Given the description of an element on the screen output the (x, y) to click on. 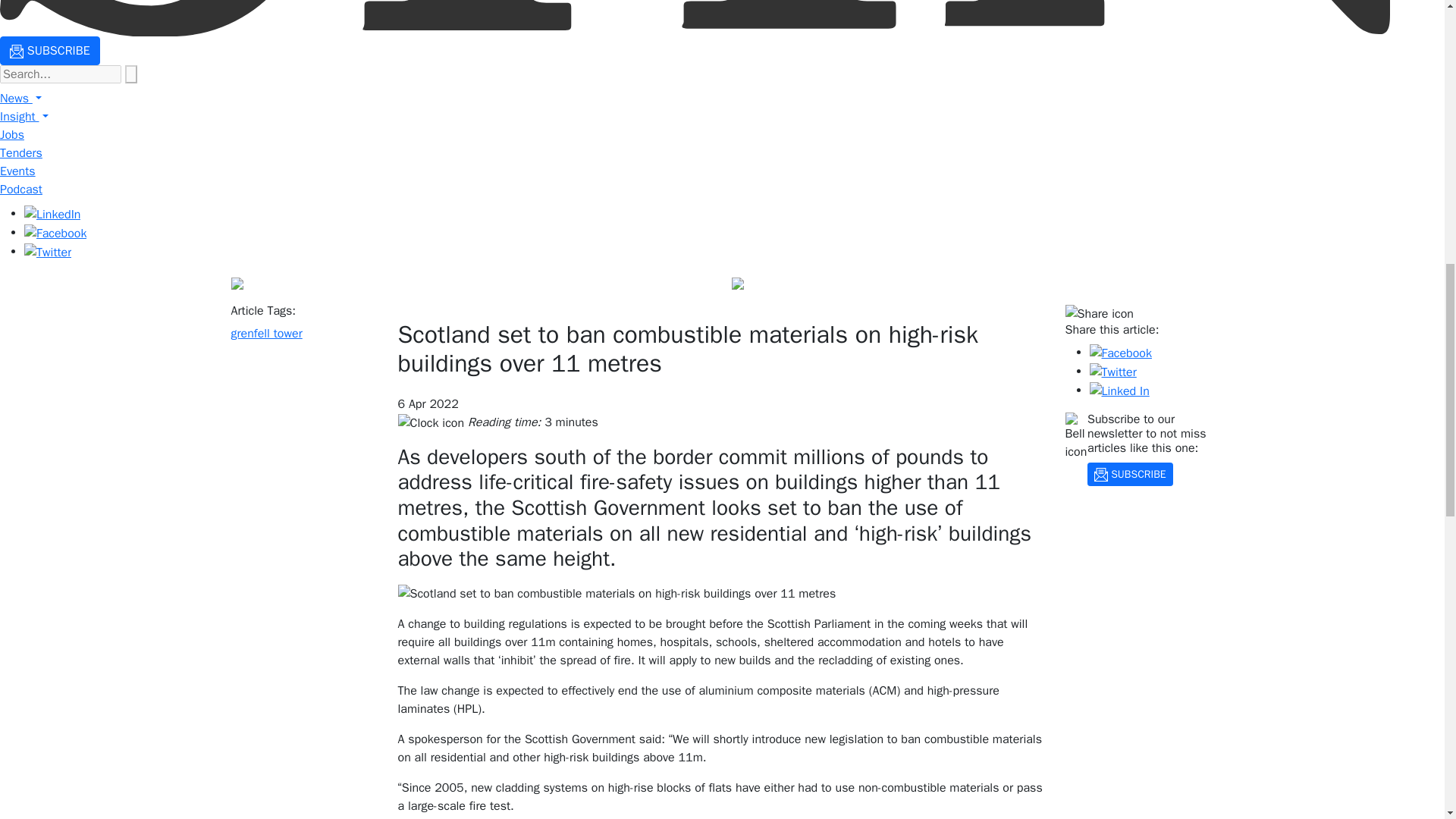
SUBSCRIBE (50, 50)
News (21, 98)
Insight (24, 116)
